Given the description of an element on the screen output the (x, y) to click on. 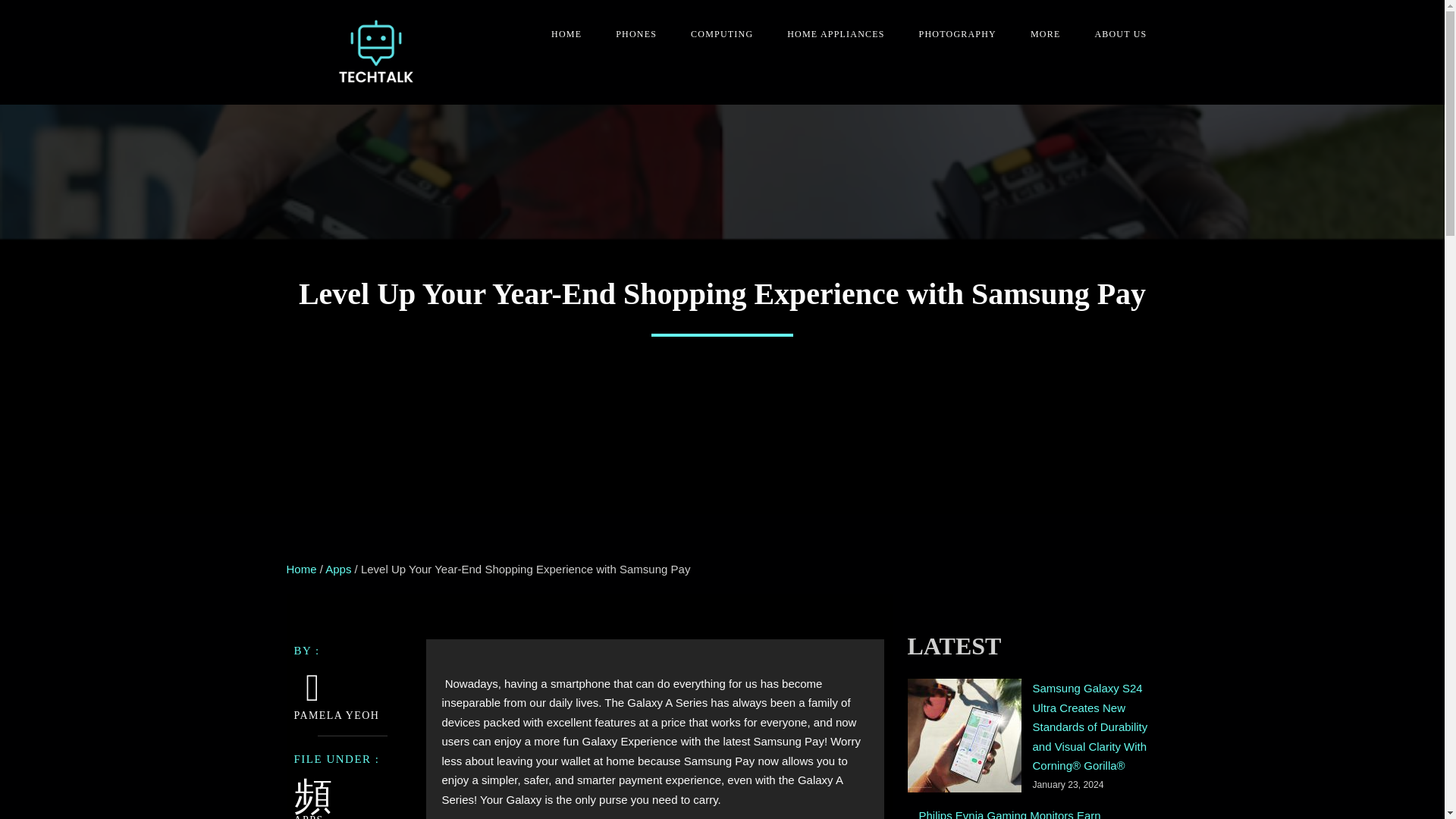
PHONES (630, 34)
ABOUT US (1114, 34)
PHOTOGRAPHY (951, 34)
APPS (308, 816)
HOME (560, 34)
COMPUTING (716, 34)
Apps (337, 568)
HOME APPLIANCES (829, 34)
Home (301, 568)
